Given the description of an element on the screen output the (x, y) to click on. 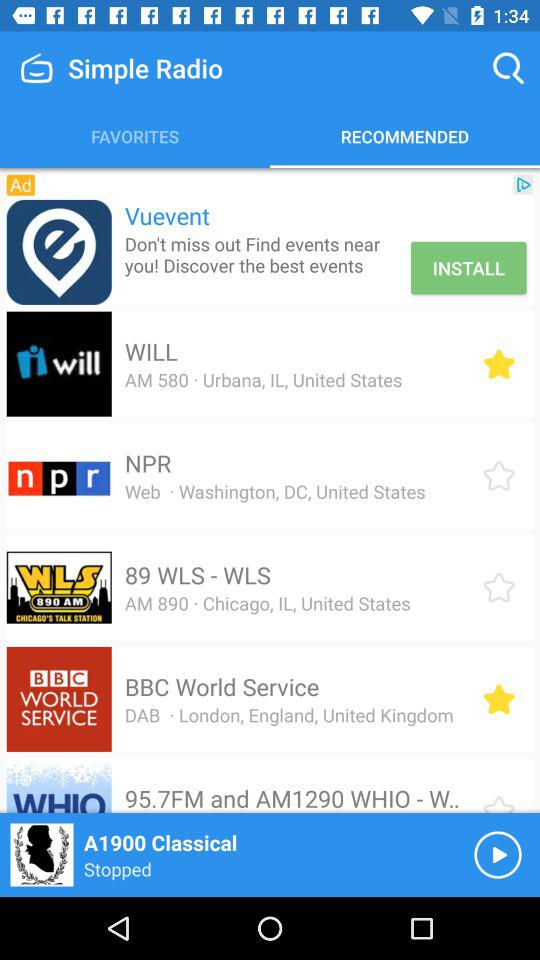
swipe to the 89 wls - wls (197, 575)
